Given the description of an element on the screen output the (x, y) to click on. 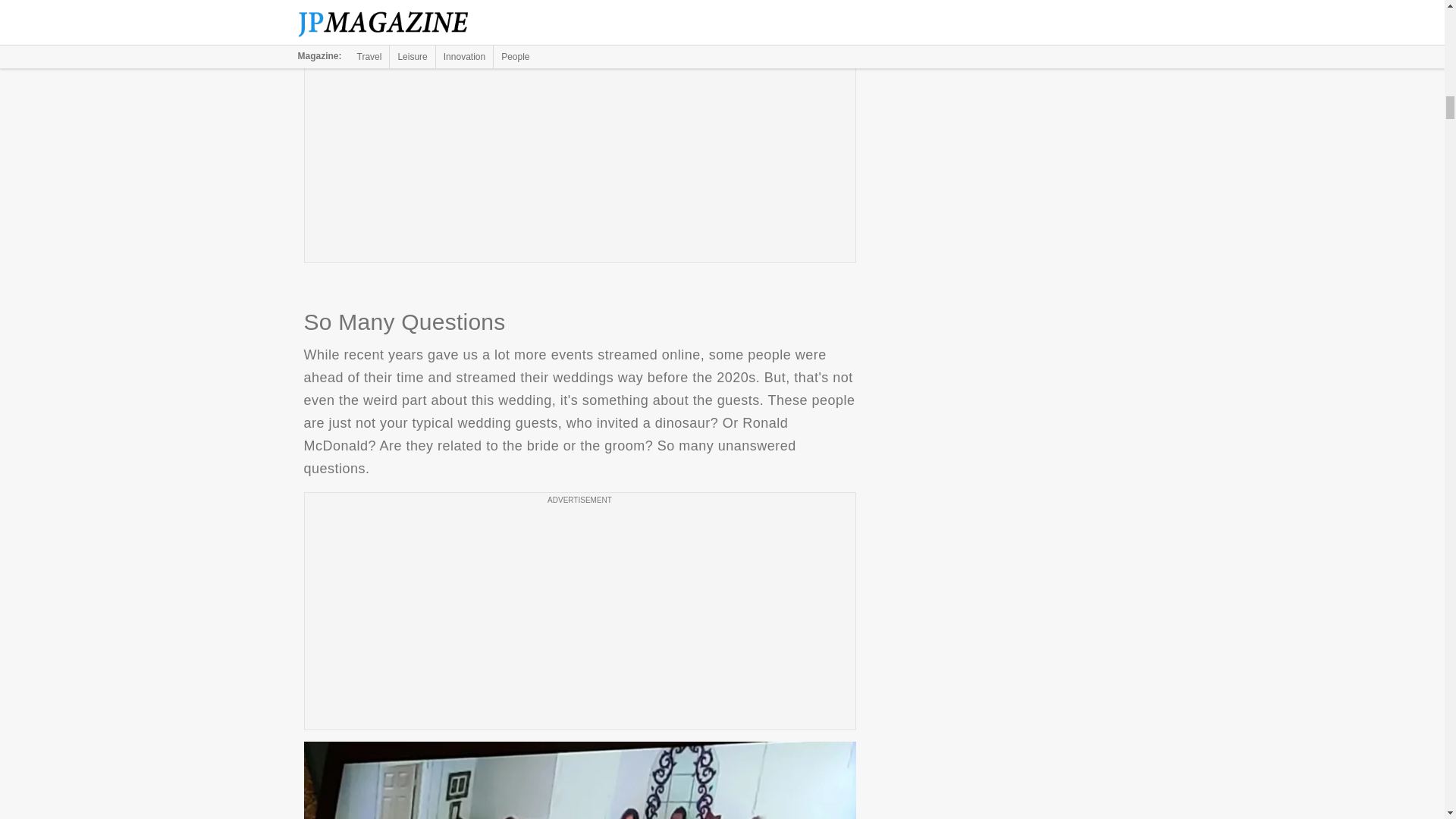
So Many Questions (579, 780)
